Given the description of an element on the screen output the (x, y) to click on. 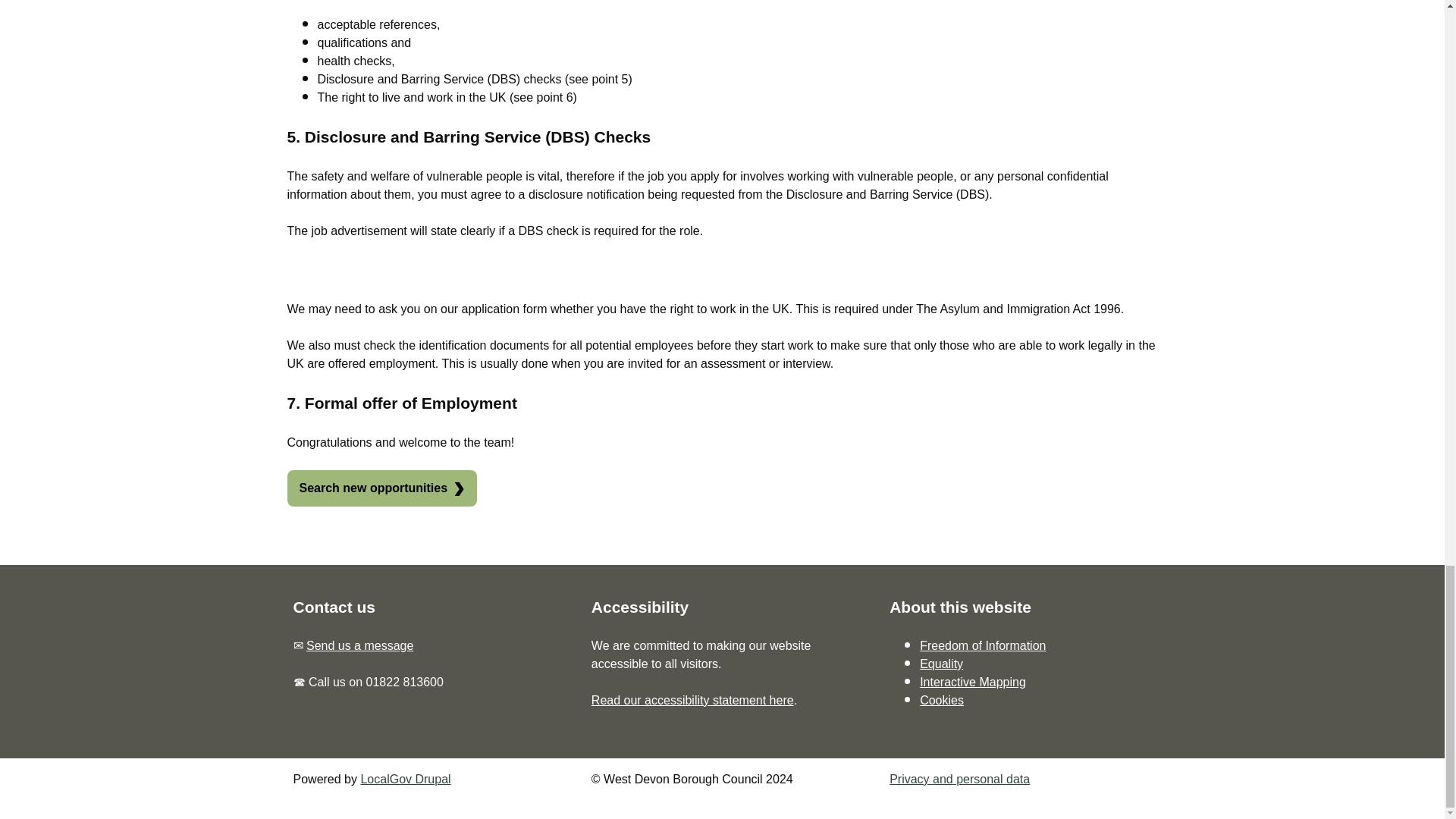
Interactive Mapping (973, 681)
Search new opportunities (381, 488)
Read our accessibility statement here (692, 699)
Contact Us (359, 645)
Equality (941, 663)
How we use cookies (941, 699)
Equality (941, 663)
Send us a message (359, 645)
Accessibility (692, 699)
Freedom of Information (982, 645)
